Given the description of an element on the screen output the (x, y) to click on. 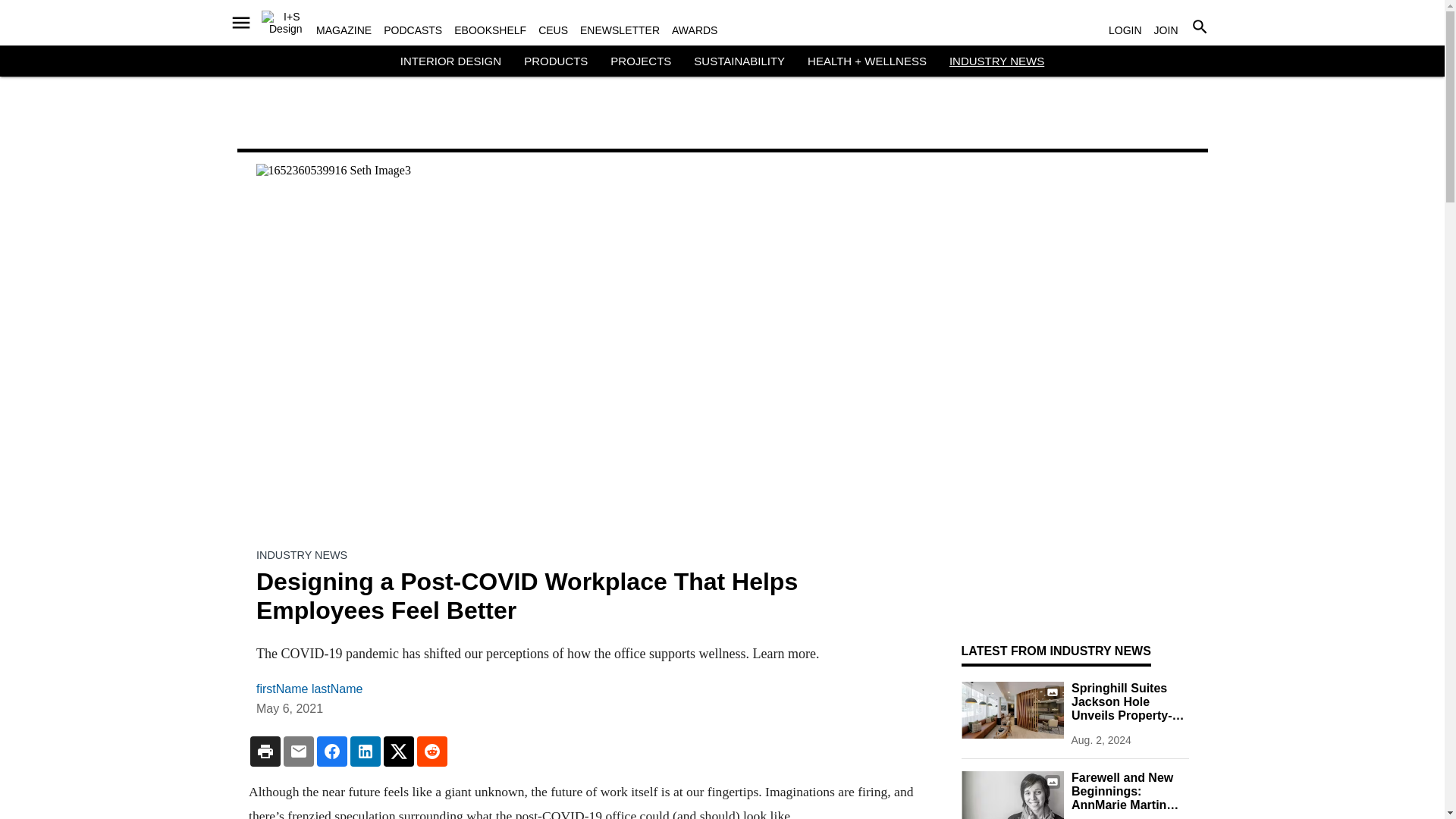
PODCASTS (413, 30)
JOIN (1165, 30)
ENEWSLETTER (619, 30)
SUSTAINABILITY (739, 60)
PRODUCTS (556, 60)
EBOOKSHELF (489, 30)
LOGIN (1124, 30)
INDUSTRY NEWS (996, 60)
AWARDS (694, 30)
